Given the description of an element on the screen output the (x, y) to click on. 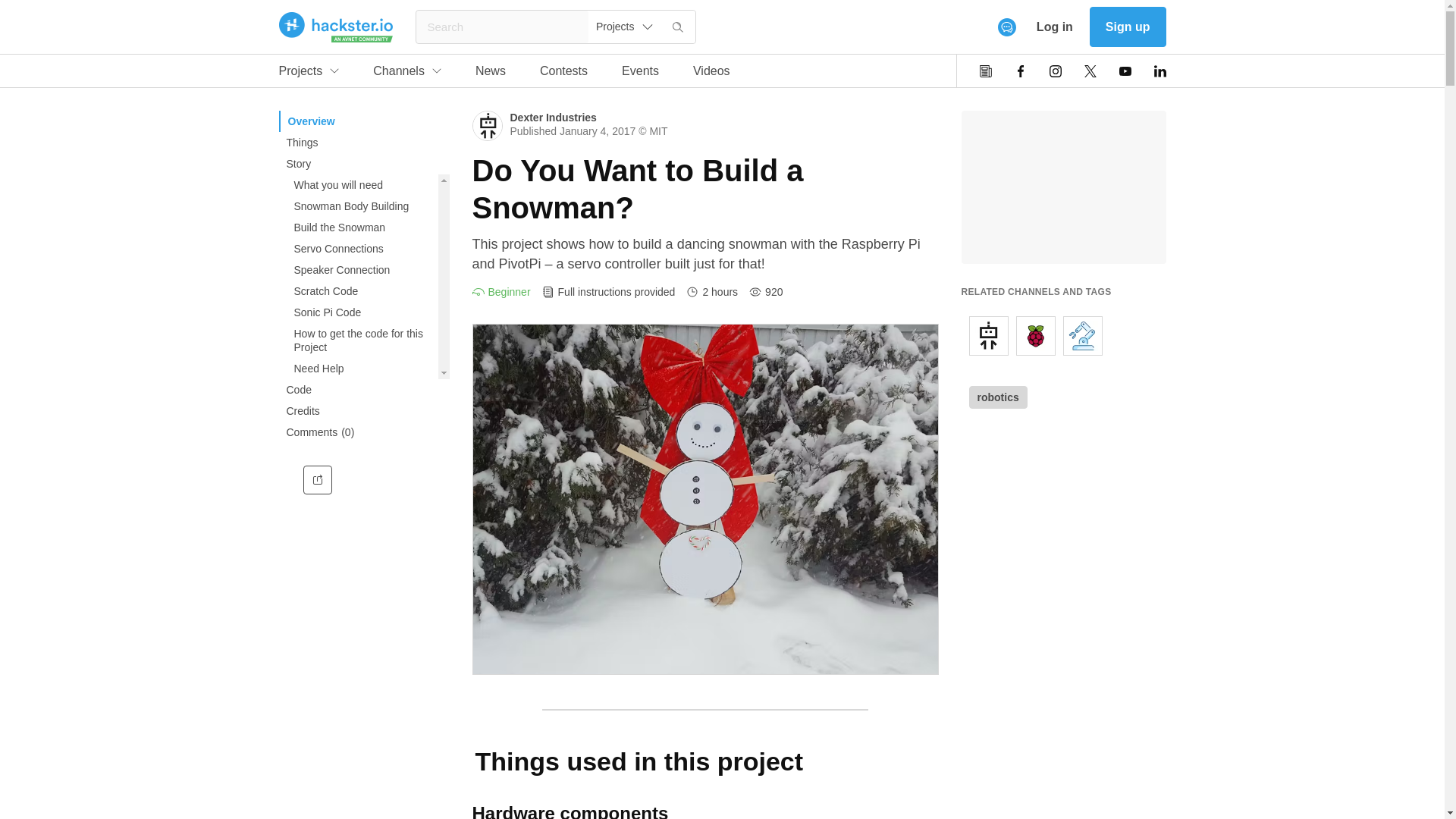
Sign up (1127, 26)
Scratch Code (358, 291)
Dexter Industries (552, 117)
Channels (406, 74)
Credits (364, 410)
What you will need (358, 184)
Story (364, 163)
Code (364, 389)
Build the Snowman (504, 74)
